Given the description of an element on the screen output the (x, y) to click on. 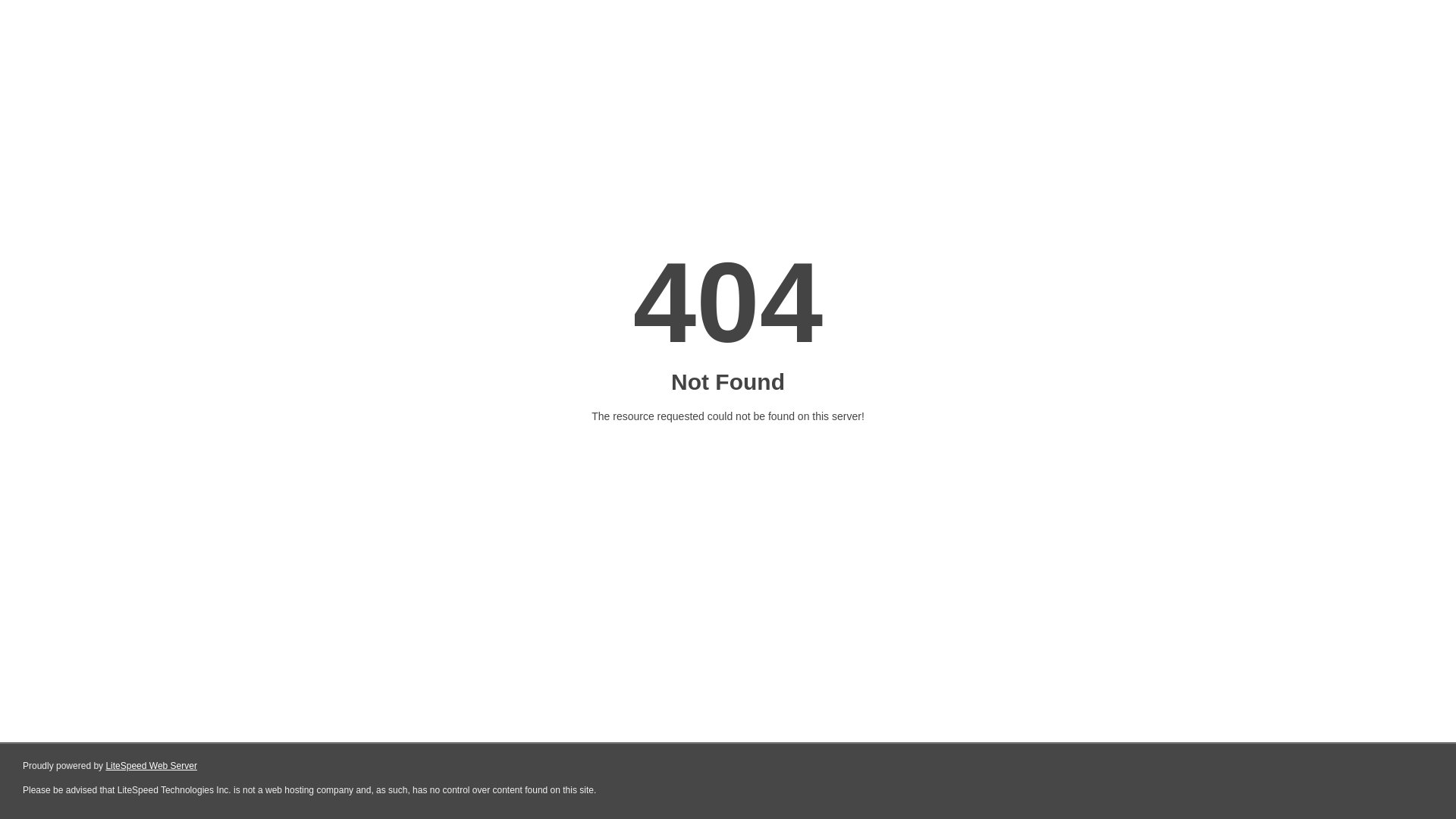
LiteSpeed Web Server Element type: text (151, 765)
